Given the description of an element on the screen output the (x, y) to click on. 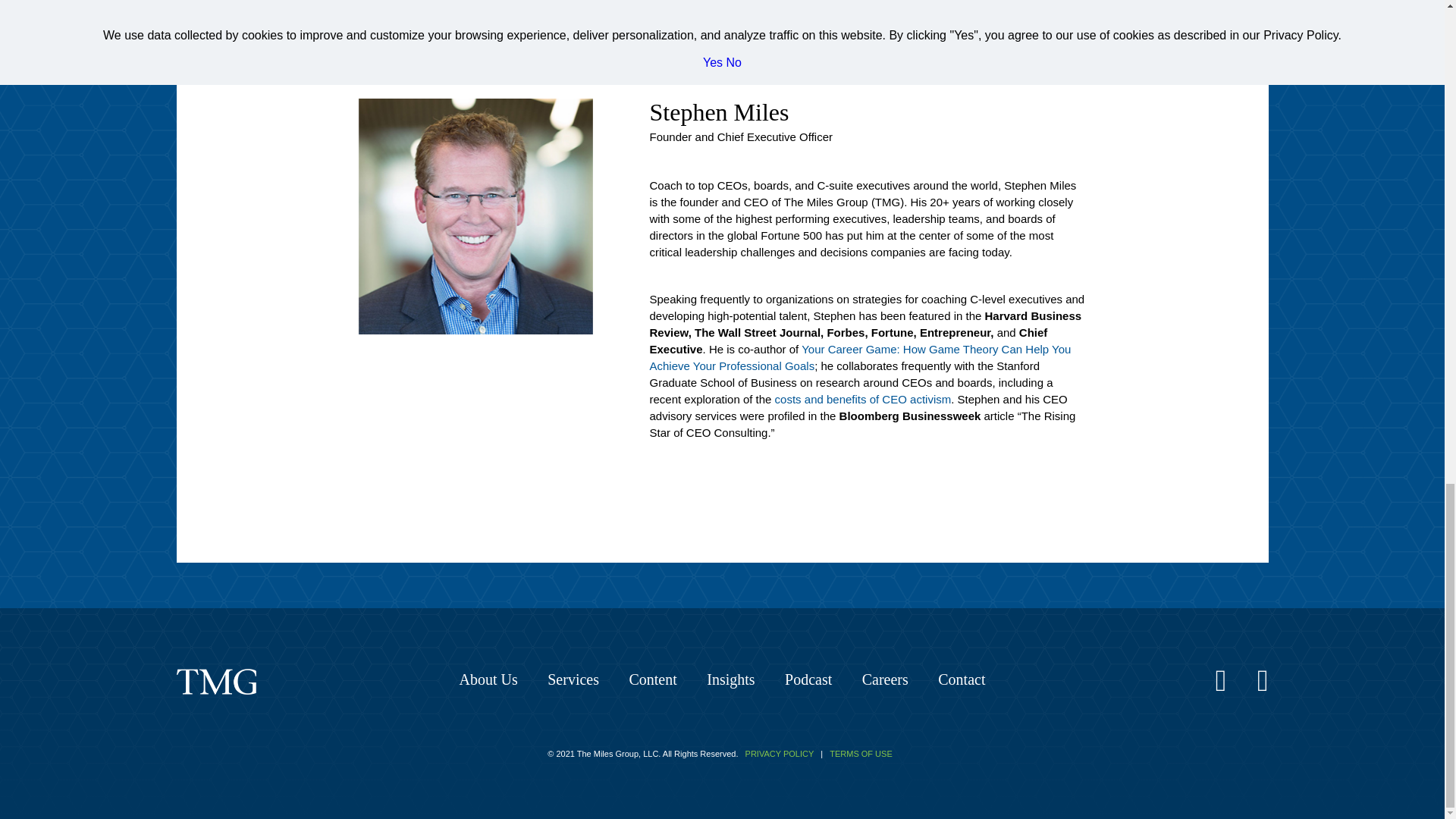
PRIVACY POLICY (779, 753)
About Us (489, 678)
costs and benefits of CEO activism (863, 399)
Careers (884, 678)
Content (652, 678)
Contact (961, 678)
TMG (216, 681)
Insights (730, 678)
Podcast (807, 678)
TERMS OF USE (860, 753)
Services (572, 678)
